Given the description of an element on the screen output the (x, y) to click on. 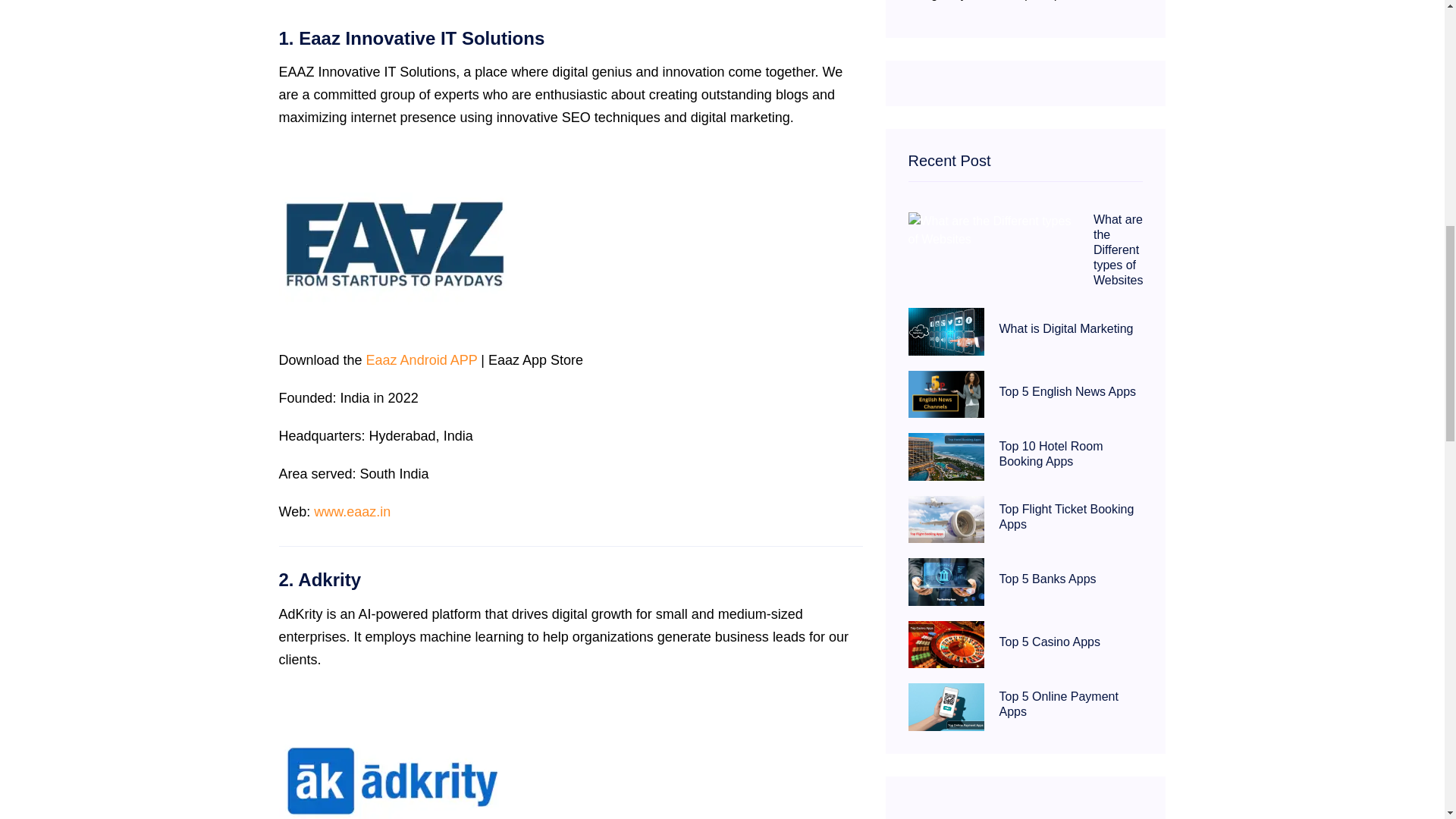
Eaaz Android APP (421, 359)
What are the Different types of Websites (1117, 250)
www.eaaz.in (352, 511)
